Given the description of an element on the screen output the (x, y) to click on. 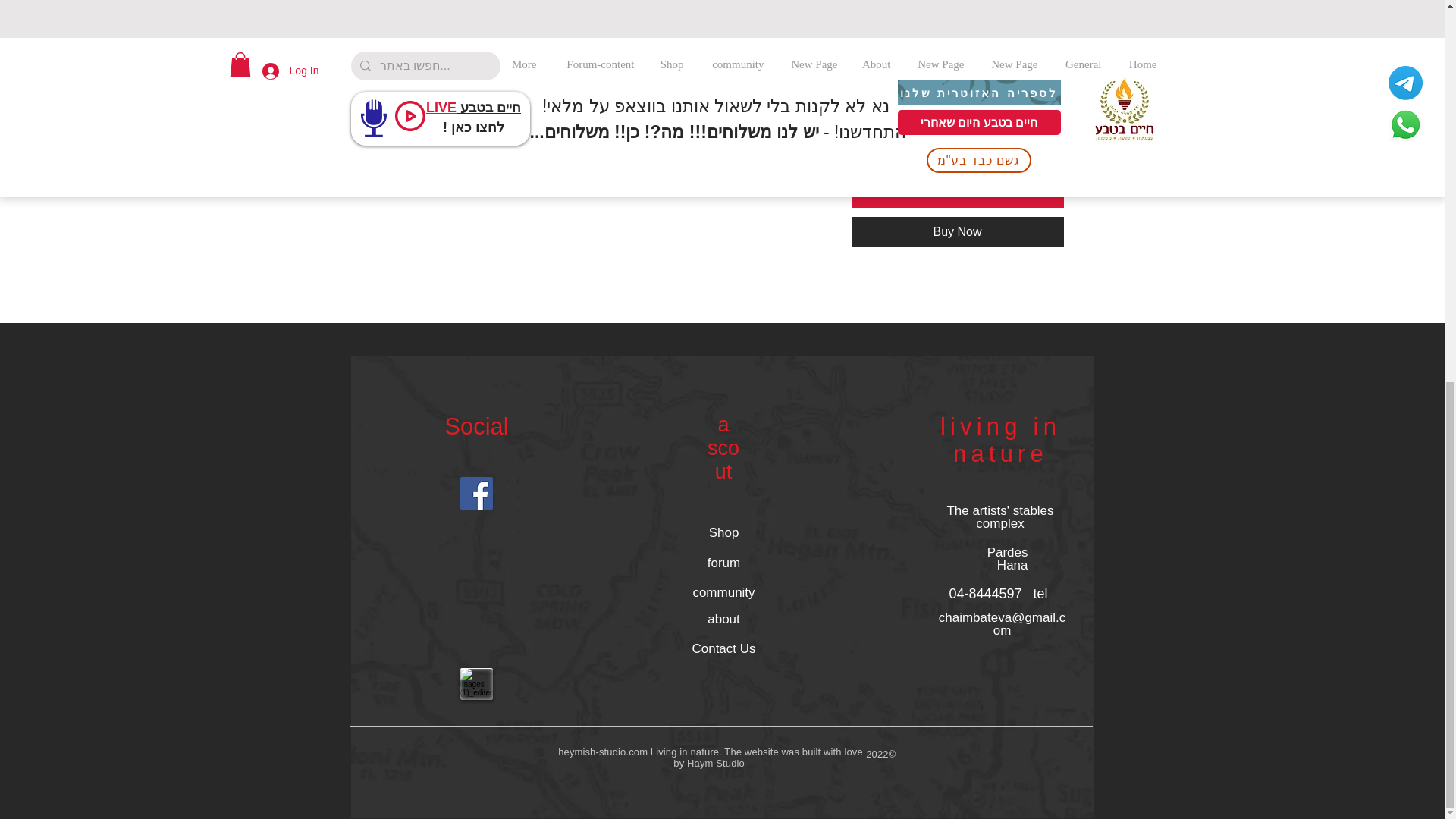
forum (723, 563)
community (723, 592)
1 (1034, 137)
Buy Now (956, 232)
Add to Cart (956, 192)
about (723, 619)
Shop (723, 532)
